Given the description of an element on the screen output the (x, y) to click on. 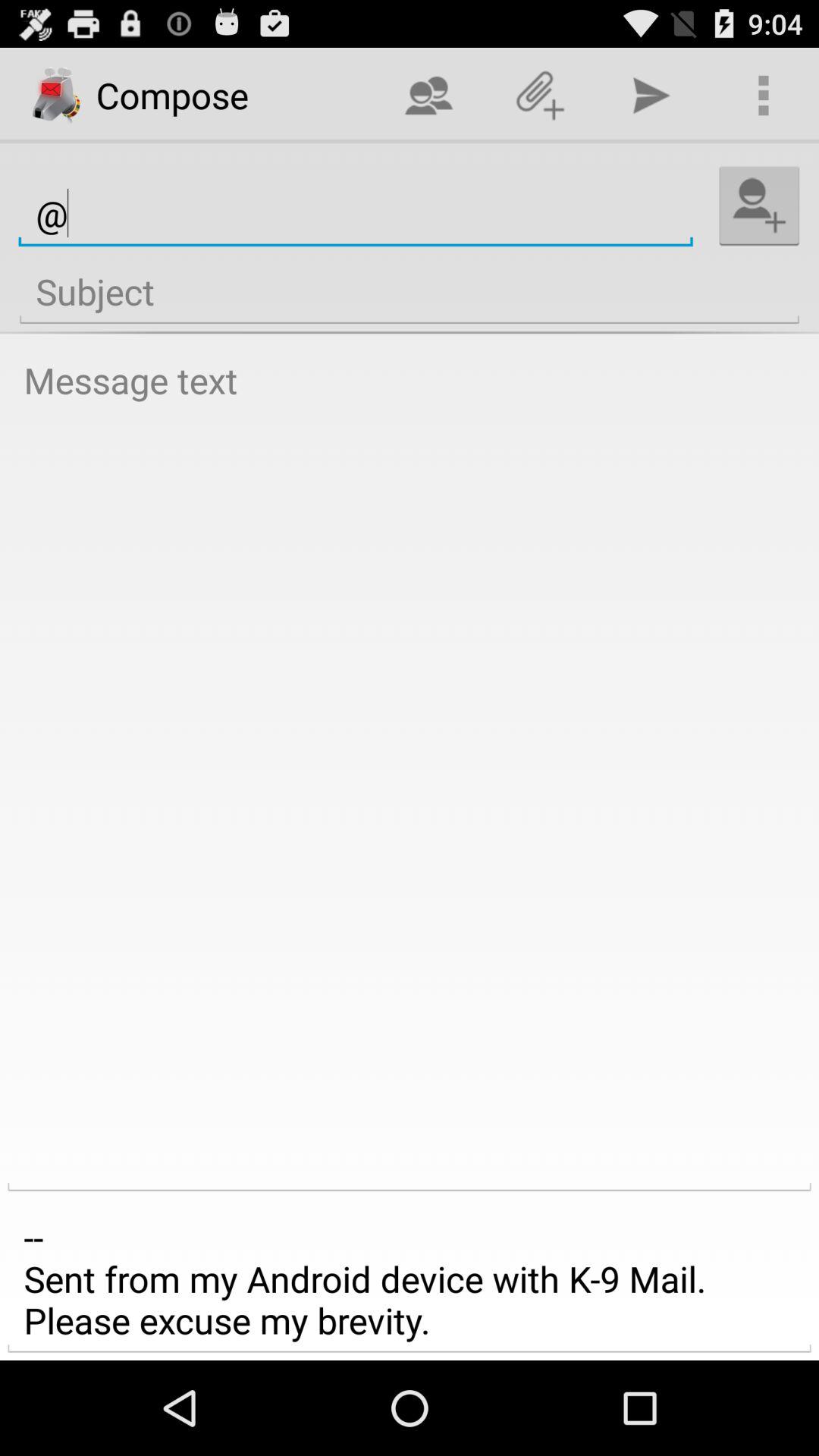
message field (409, 769)
